Given the description of an element on the screen output the (x, y) to click on. 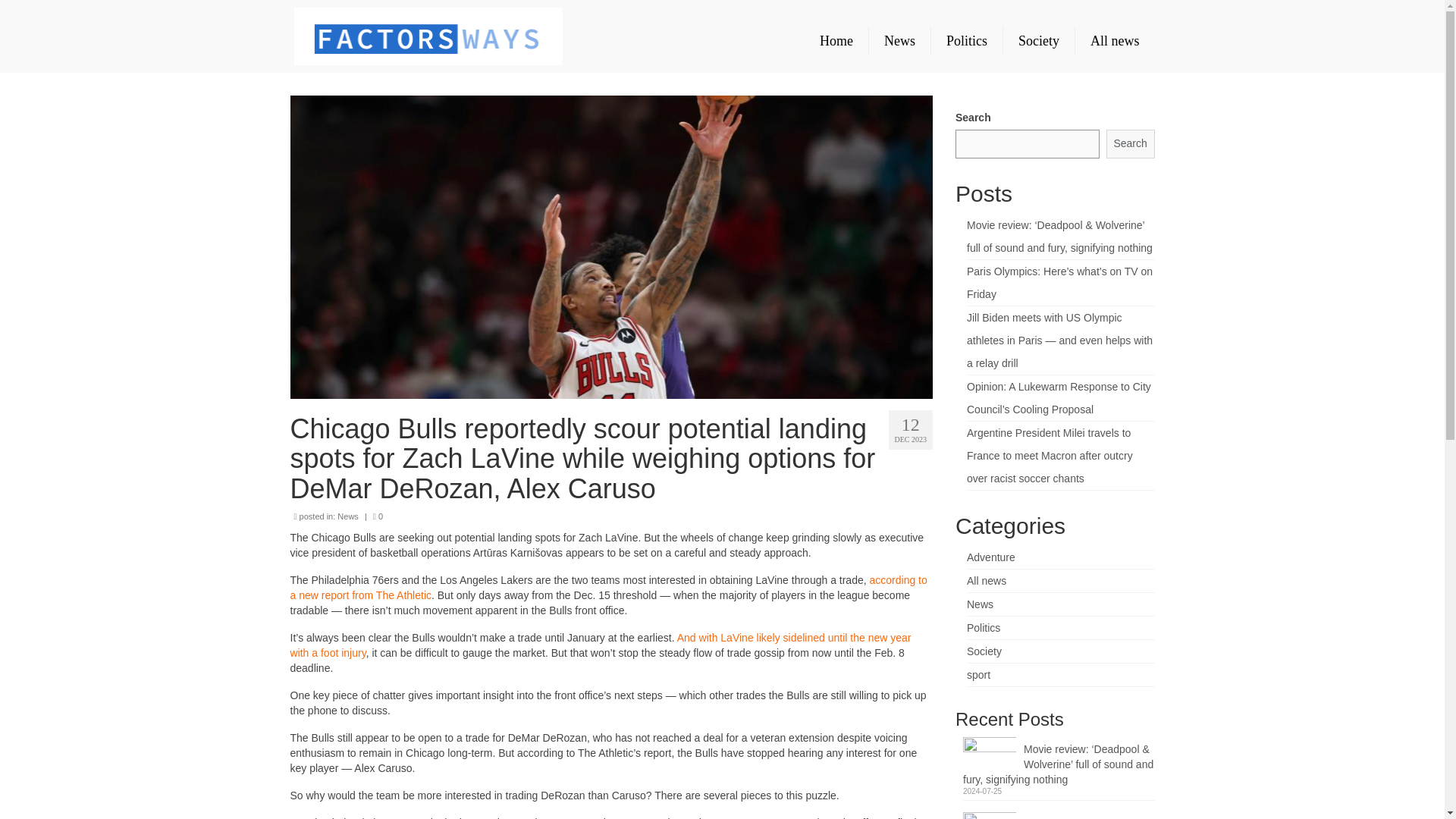
Home (836, 40)
Society (983, 651)
News (979, 604)
Society (1038, 40)
All news (1114, 40)
News (347, 515)
News (899, 40)
Search (1130, 143)
Politics (983, 627)
Adventure (990, 557)
according to a new report from The Athletic (607, 587)
sport (978, 674)
Politics (967, 40)
